Given the description of an element on the screen output the (x, y) to click on. 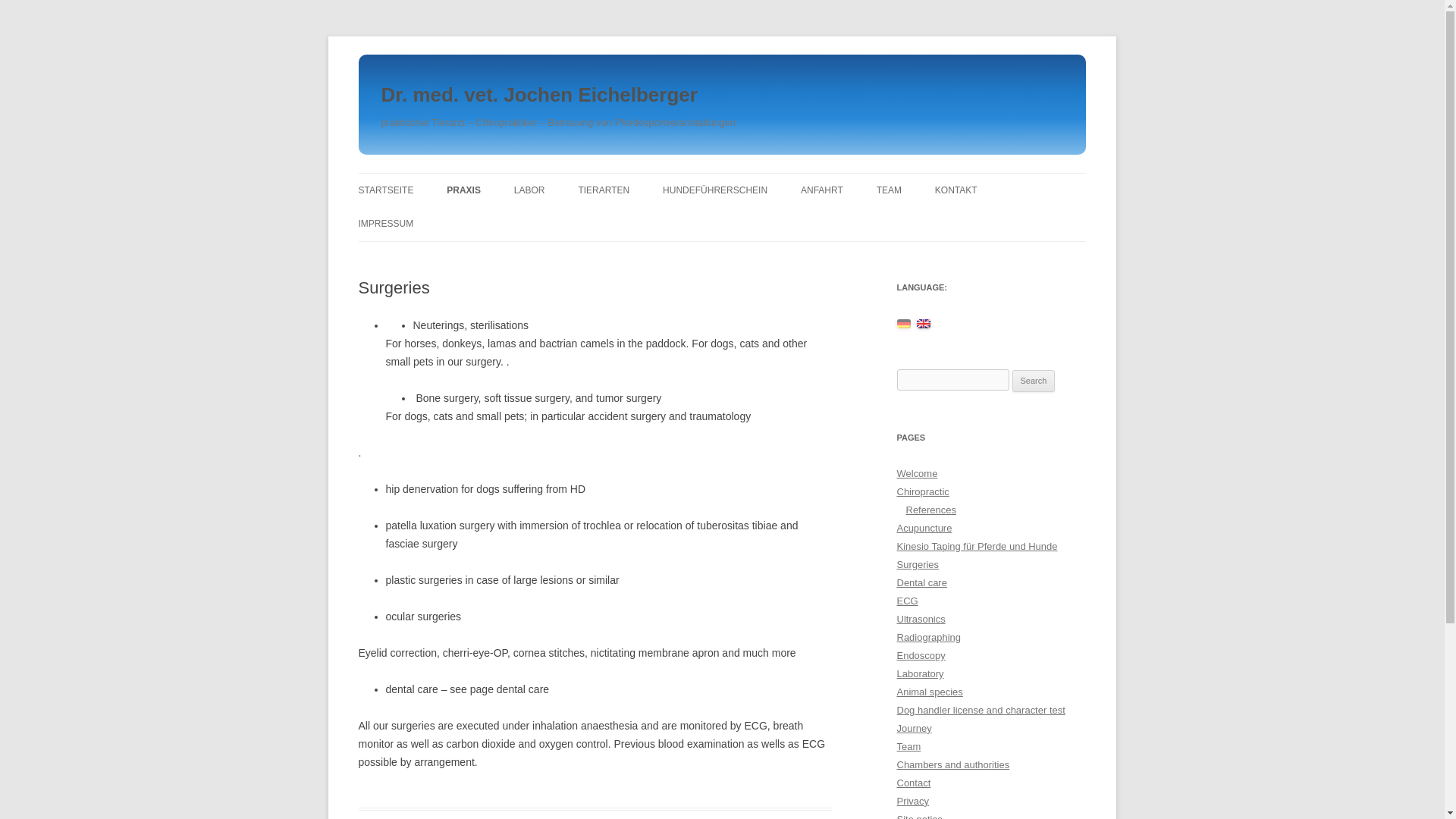
ANFAHRT (821, 190)
Acupuncture (924, 527)
KONTAKT (955, 190)
IMPRESSUM (385, 223)
References (930, 509)
Endoscopy (920, 655)
PRAXIS (463, 190)
Dog handler license and character test (980, 709)
Dr. med. vet. Jochen Eichelberger (538, 94)
Ultrasonics (920, 618)
TIERARTEN (603, 190)
Chiropractic (922, 491)
Welcome (916, 473)
STARTSEITE (385, 190)
